Given the description of an element on the screen output the (x, y) to click on. 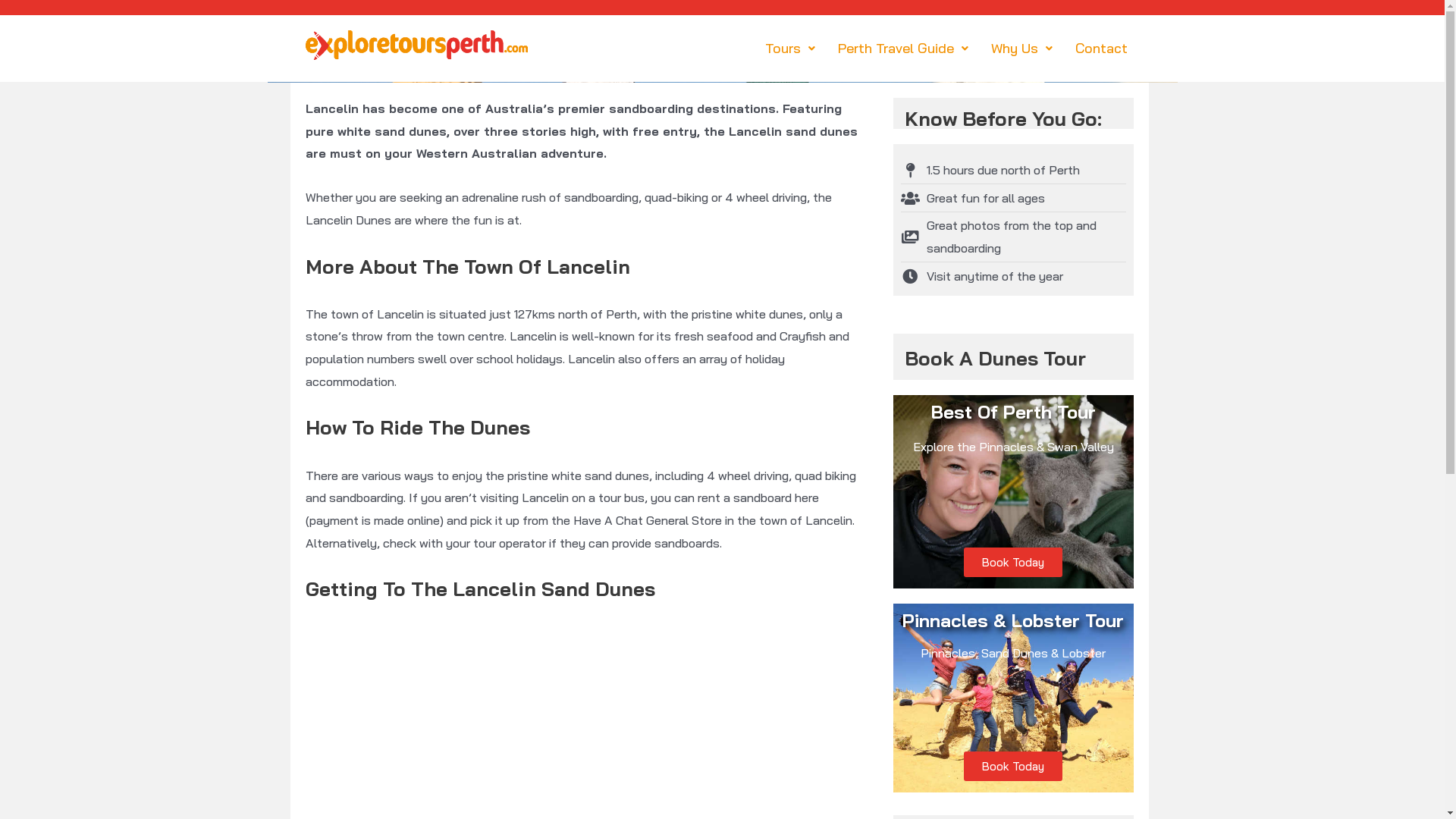
Book Today Element type: text (1012, 562)
Perth Travel Guide Element type: text (902, 48)
Why Us Element type: text (1021, 48)
Tours Element type: text (789, 48)
Contact Element type: text (1101, 48)
Book Today Element type: text (1012, 766)
